Given the description of an element on the screen output the (x, y) to click on. 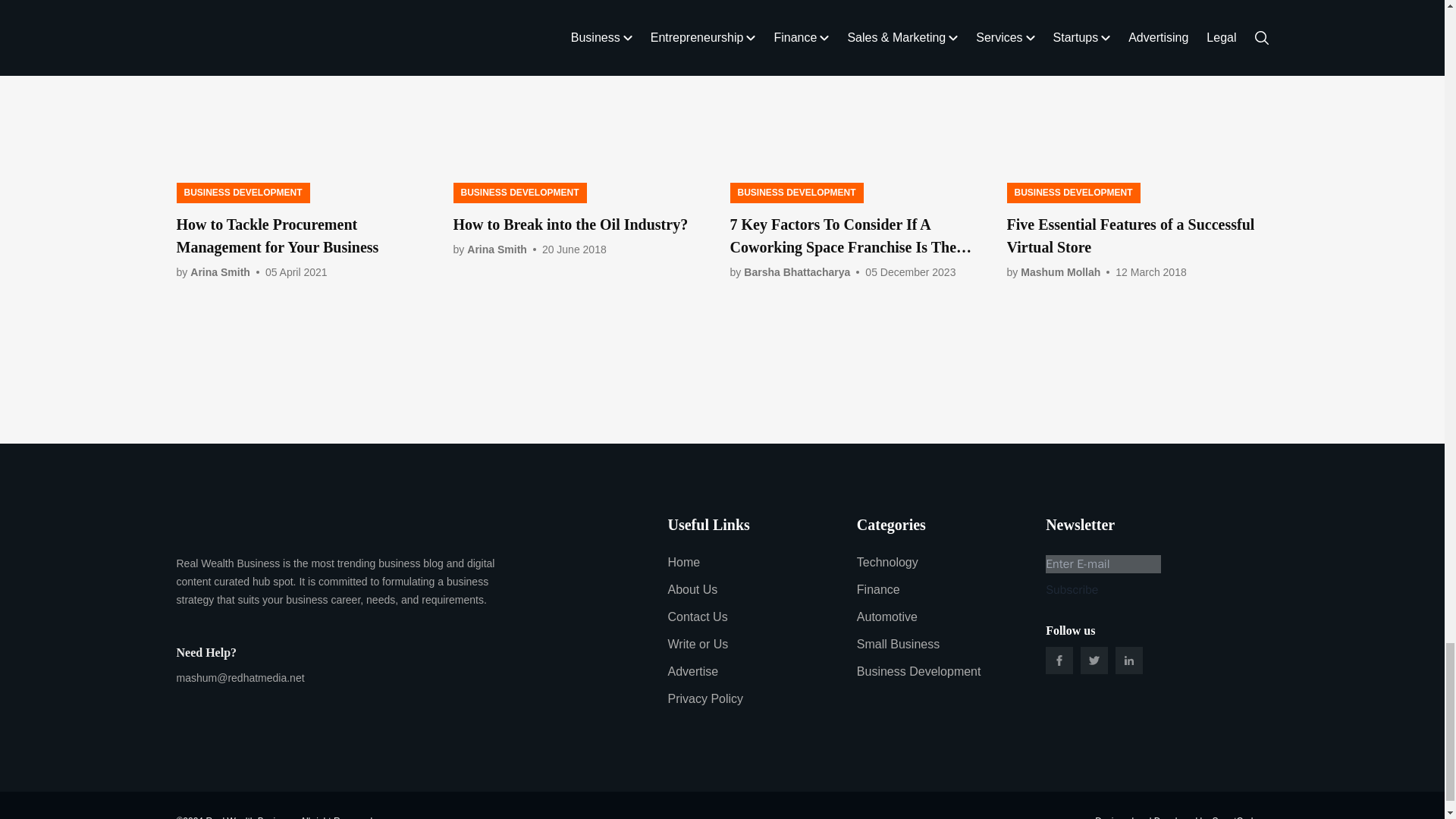
Subscribe (1071, 589)
